Given the description of an element on the screen output the (x, y) to click on. 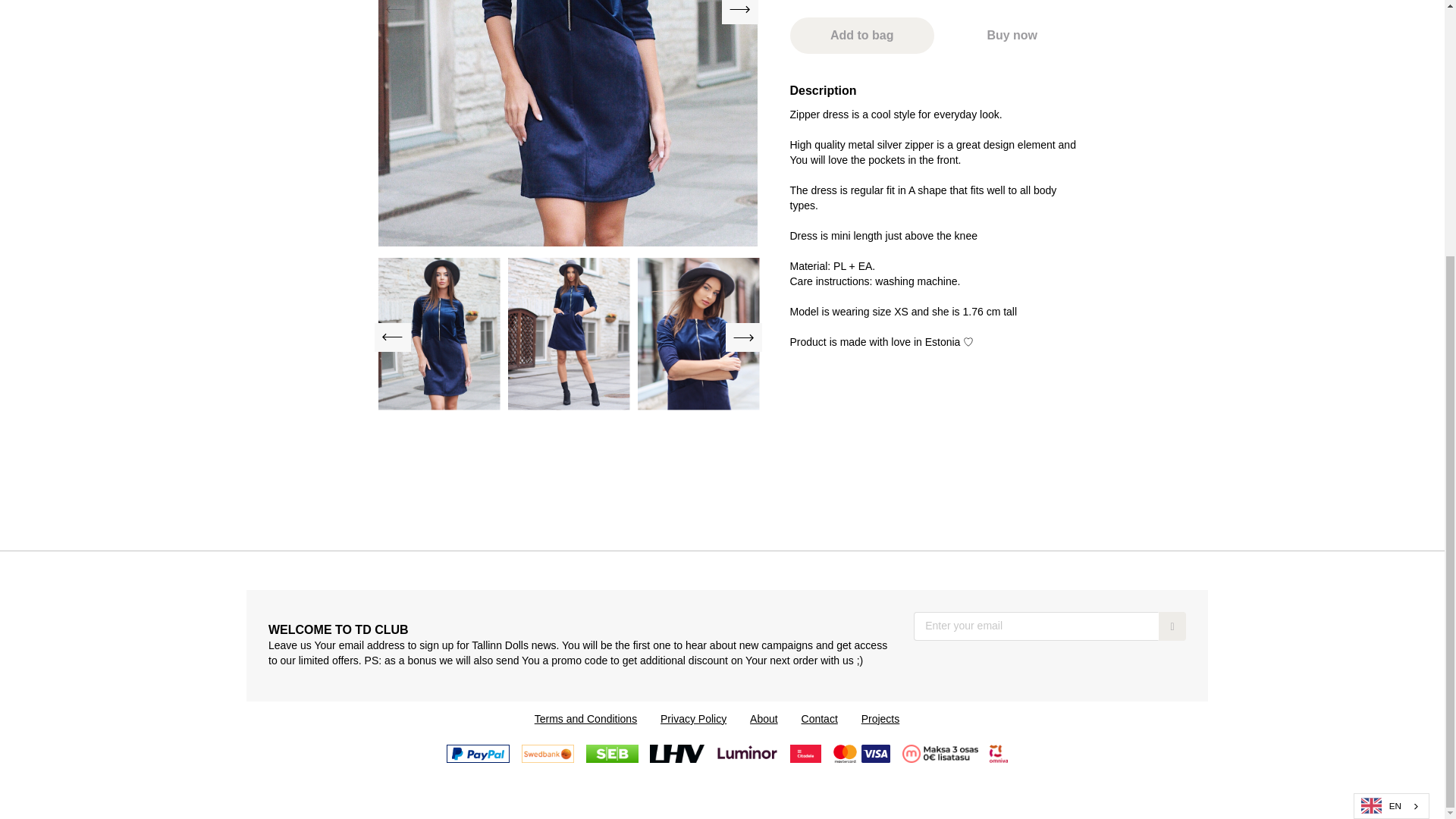
Add to bag (862, 35)
Previous (395, 12)
Next (743, 337)
Previous (392, 337)
Next (740, 12)
